Given the description of an element on the screen output the (x, y) to click on. 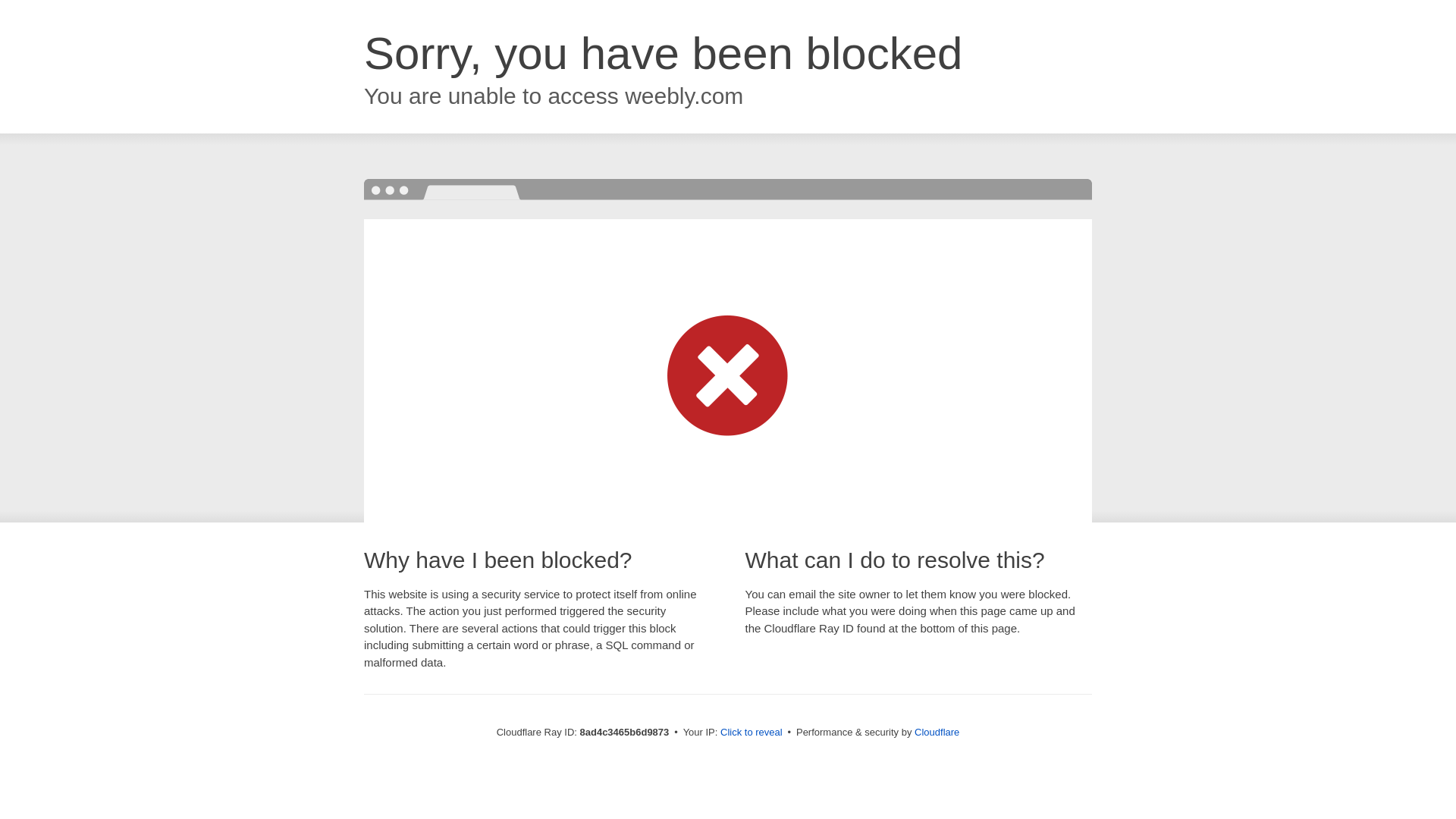
Click to reveal (751, 732)
Cloudflare (936, 731)
